Given the description of an element on the screen output the (x, y) to click on. 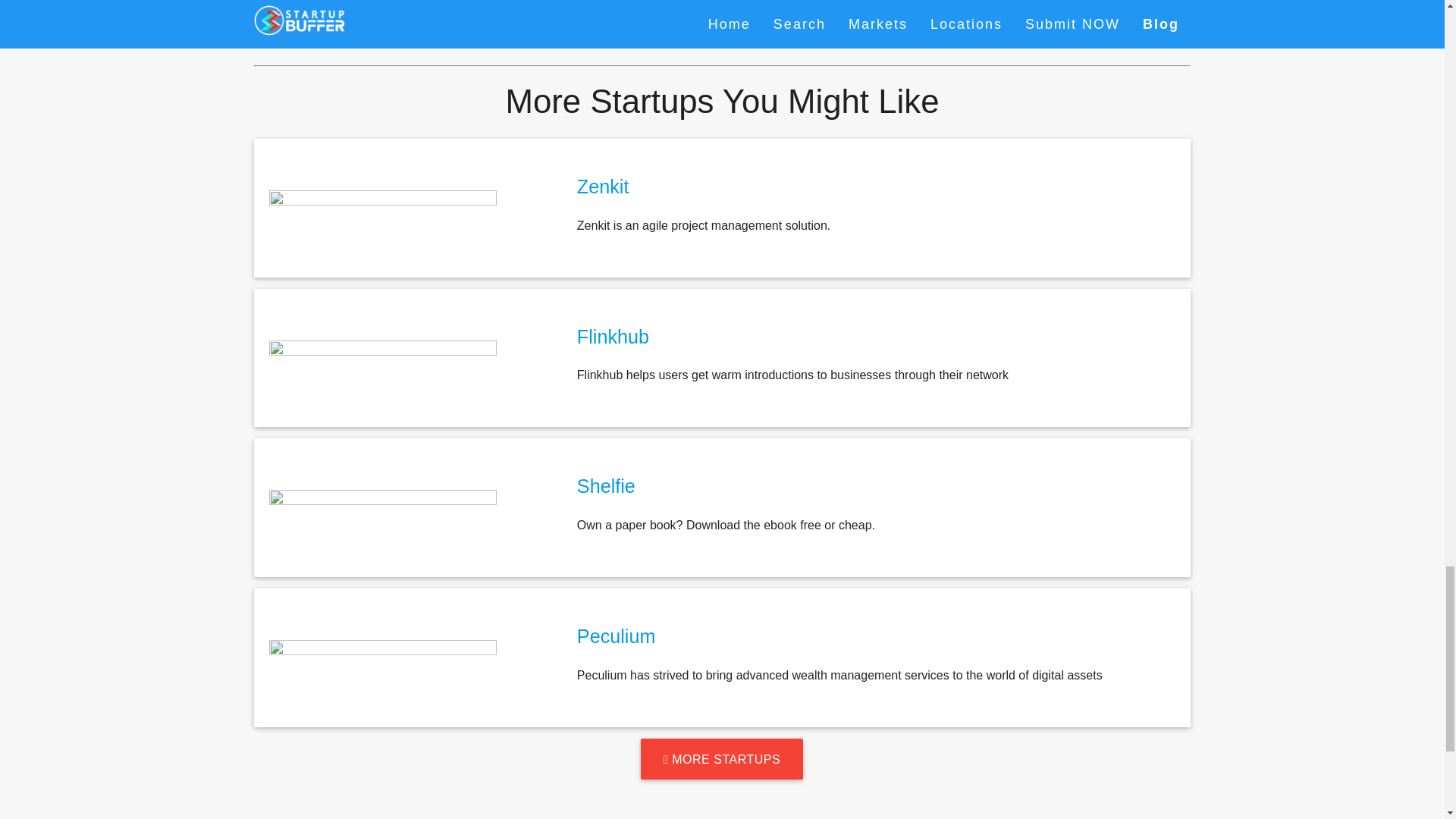
Data Mentor - Enterprise DNA vs Input Club (960, 28)
Data Mentor - Enterprise DNA vs InstaRemind (960, 3)
Abraa.com vs Input Club (483, 28)
Abraa.com vs InstaRemind (483, 3)
